Given the description of an element on the screen output the (x, y) to click on. 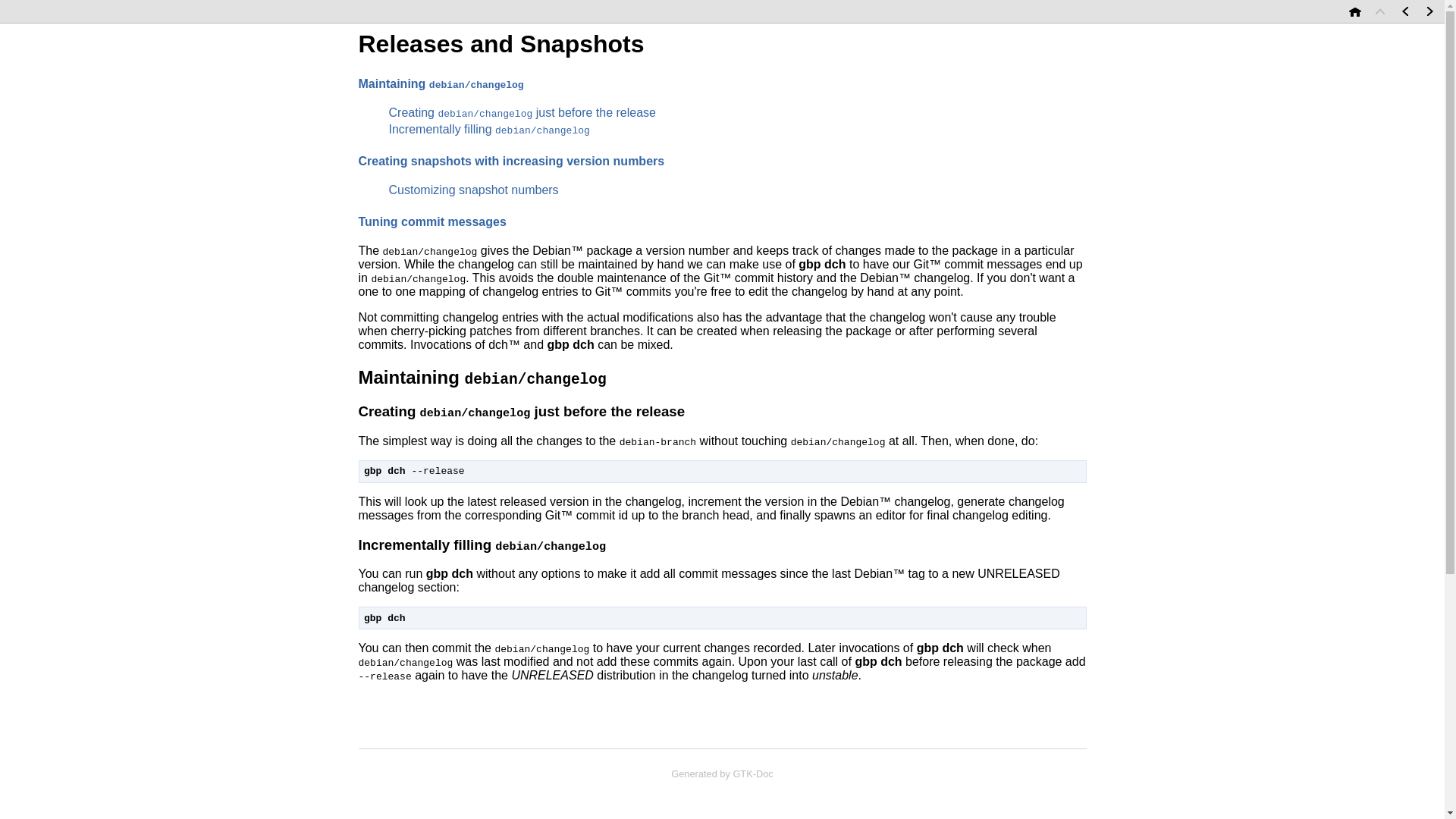
Customizing snapshot numbers (472, 189)
Creating snapshots with increasing version numbers (510, 160)
Tuning commit messages (431, 221)
